Given the description of an element on the screen output the (x, y) to click on. 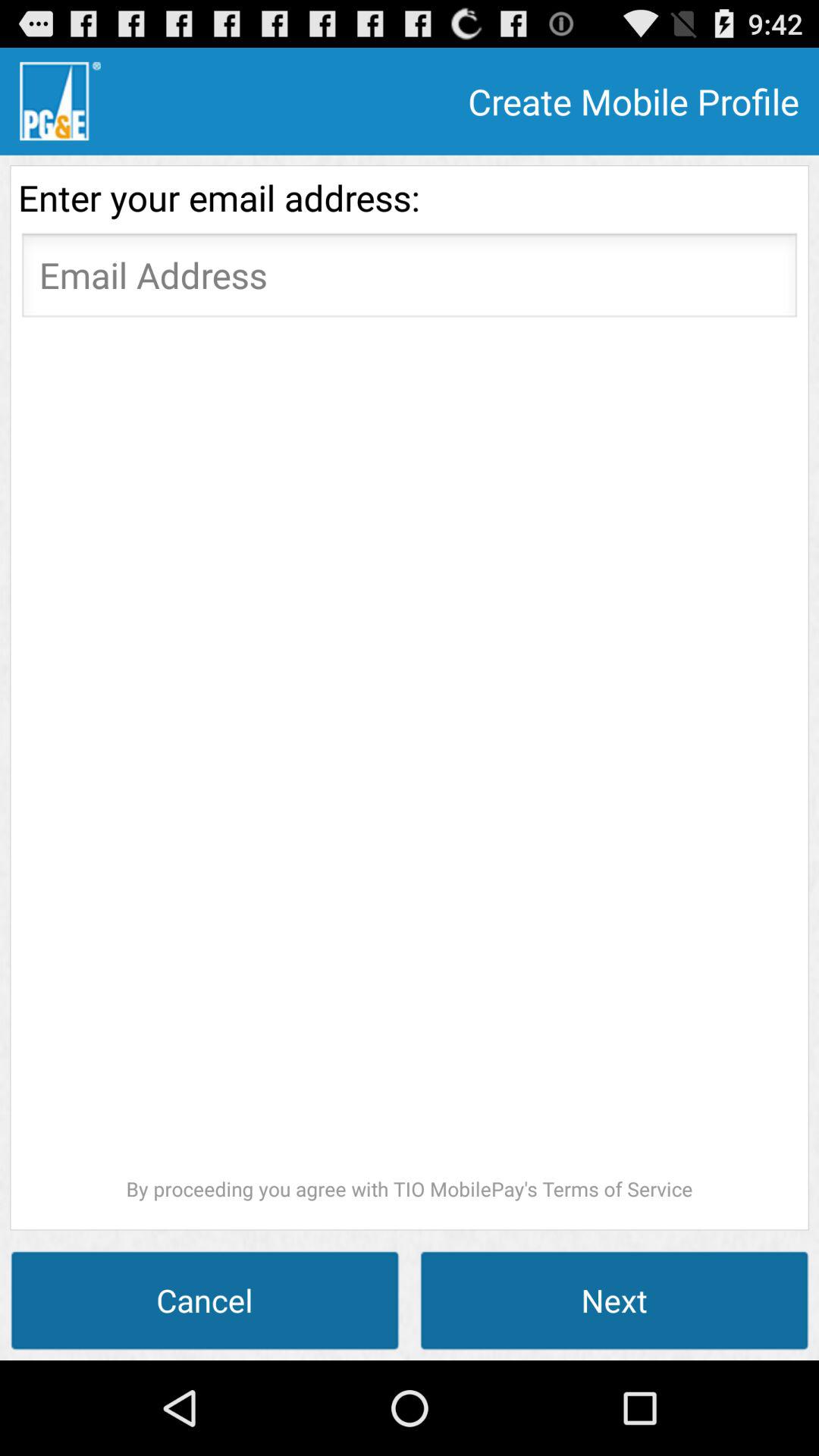
open button at the bottom left corner (204, 1300)
